Given the description of an element on the screen output the (x, y) to click on. 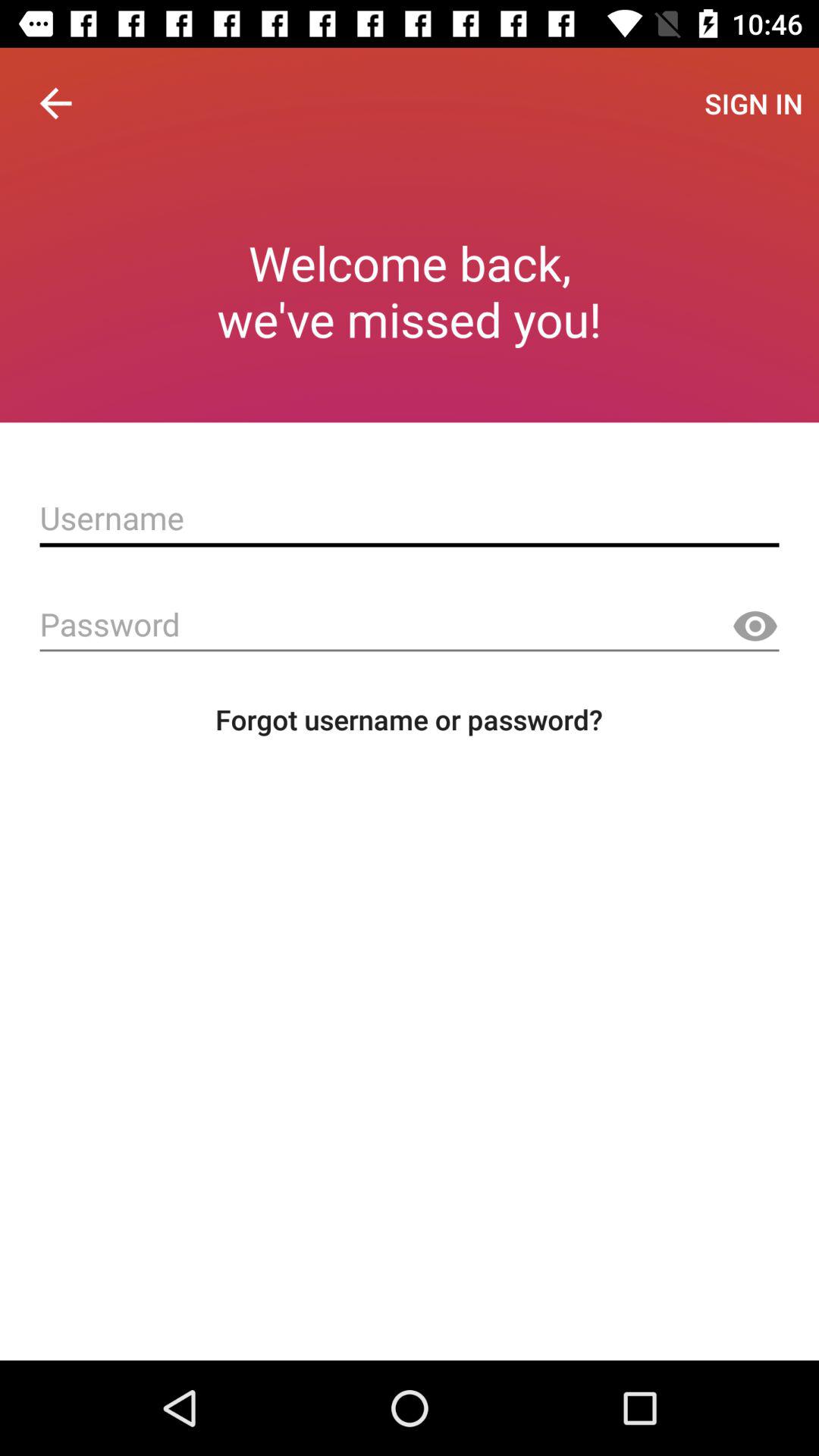
enter username (409, 518)
